Given the description of an element on the screen output the (x, y) to click on. 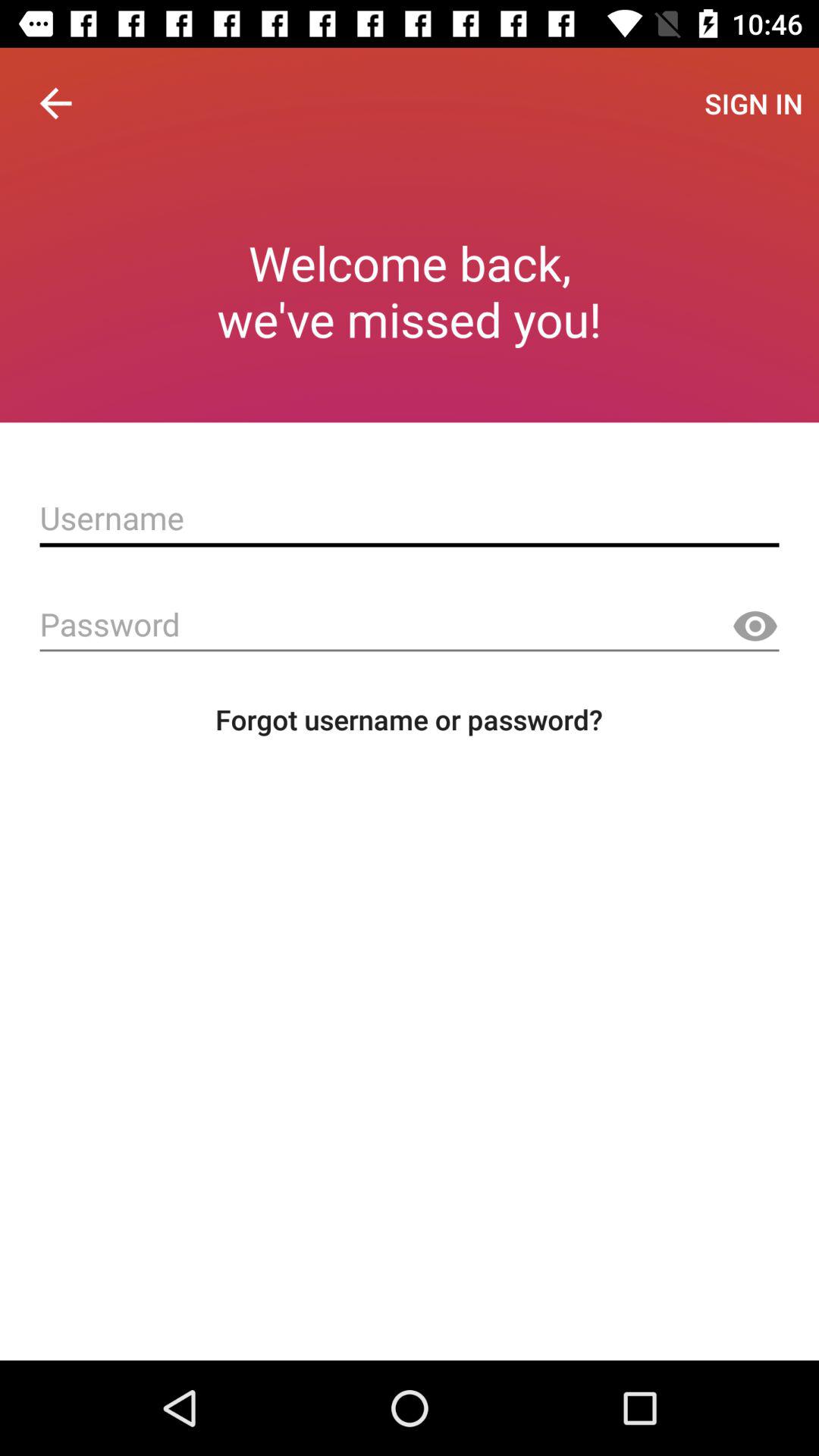
enter username (409, 518)
